Given the description of an element on the screen output the (x, y) to click on. 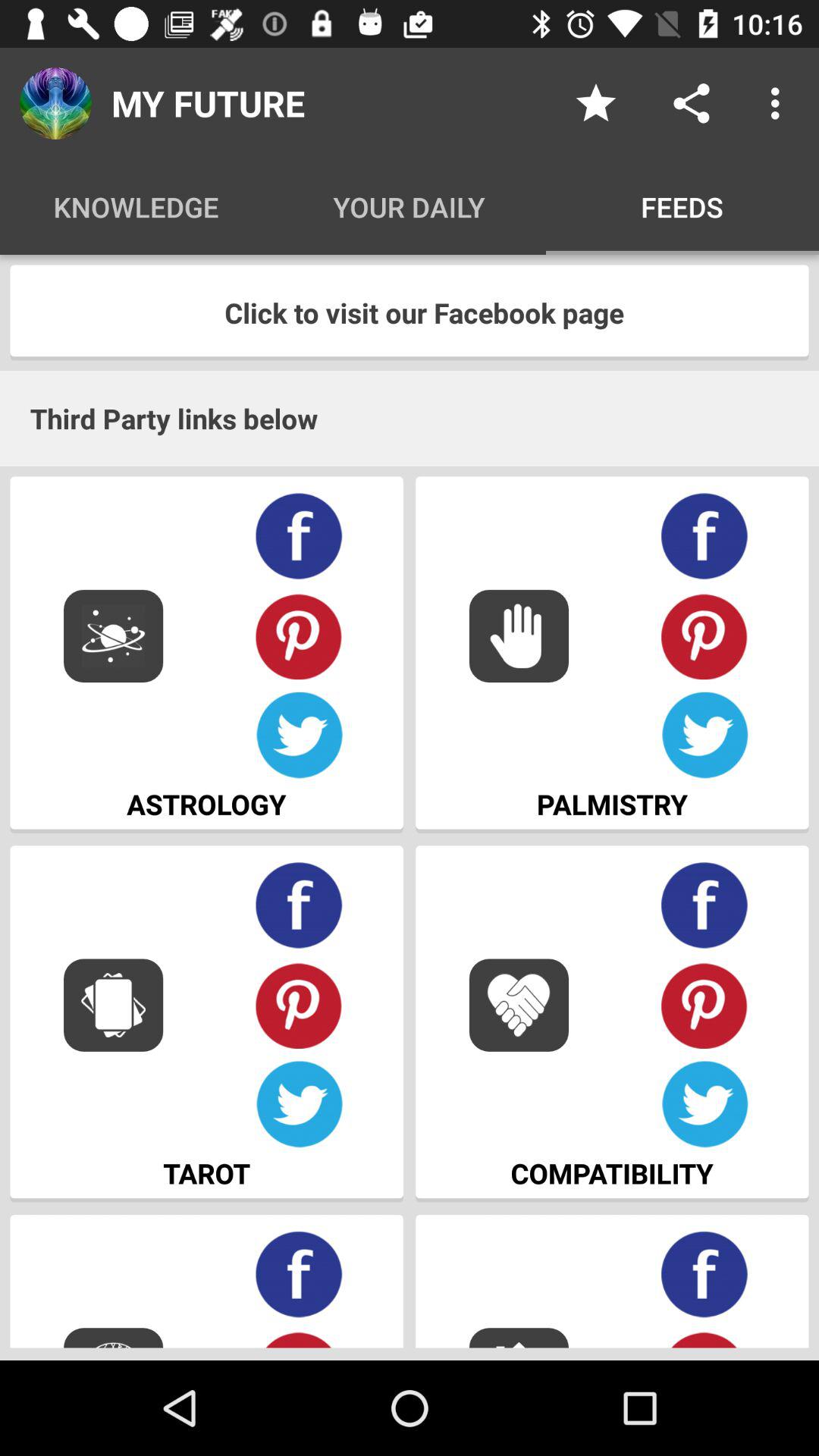
view your information through twitter account (704, 735)
